Given the description of an element on the screen output the (x, y) to click on. 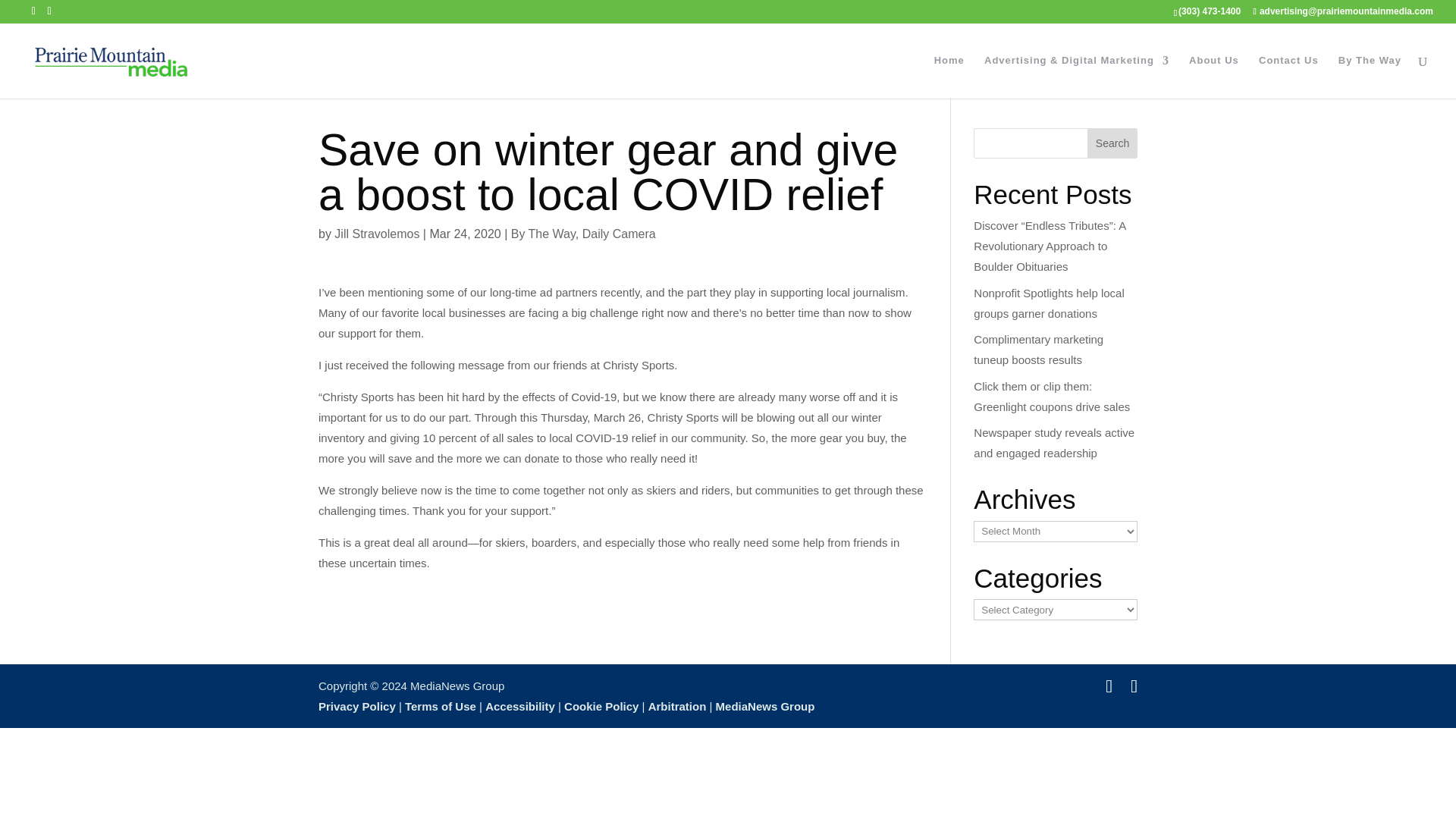
Complimentary marketing tuneup boosts results (1038, 349)
Search (1112, 142)
By The Way (543, 233)
Nonprofit Spotlights help local groups garner donations (1049, 303)
Terms of Use (440, 706)
Accessibility (519, 706)
Jill Stravolemos (376, 233)
Contact Us (1289, 76)
Cookie Policy (601, 706)
About Us (1214, 76)
Arbitration (676, 706)
Posts by Jill Stravolemos (376, 233)
Privacy Policy (357, 706)
Click them or clip them: Greenlight coupons drive sales (1051, 395)
By The Way (1369, 76)
